Given the description of an element on the screen output the (x, y) to click on. 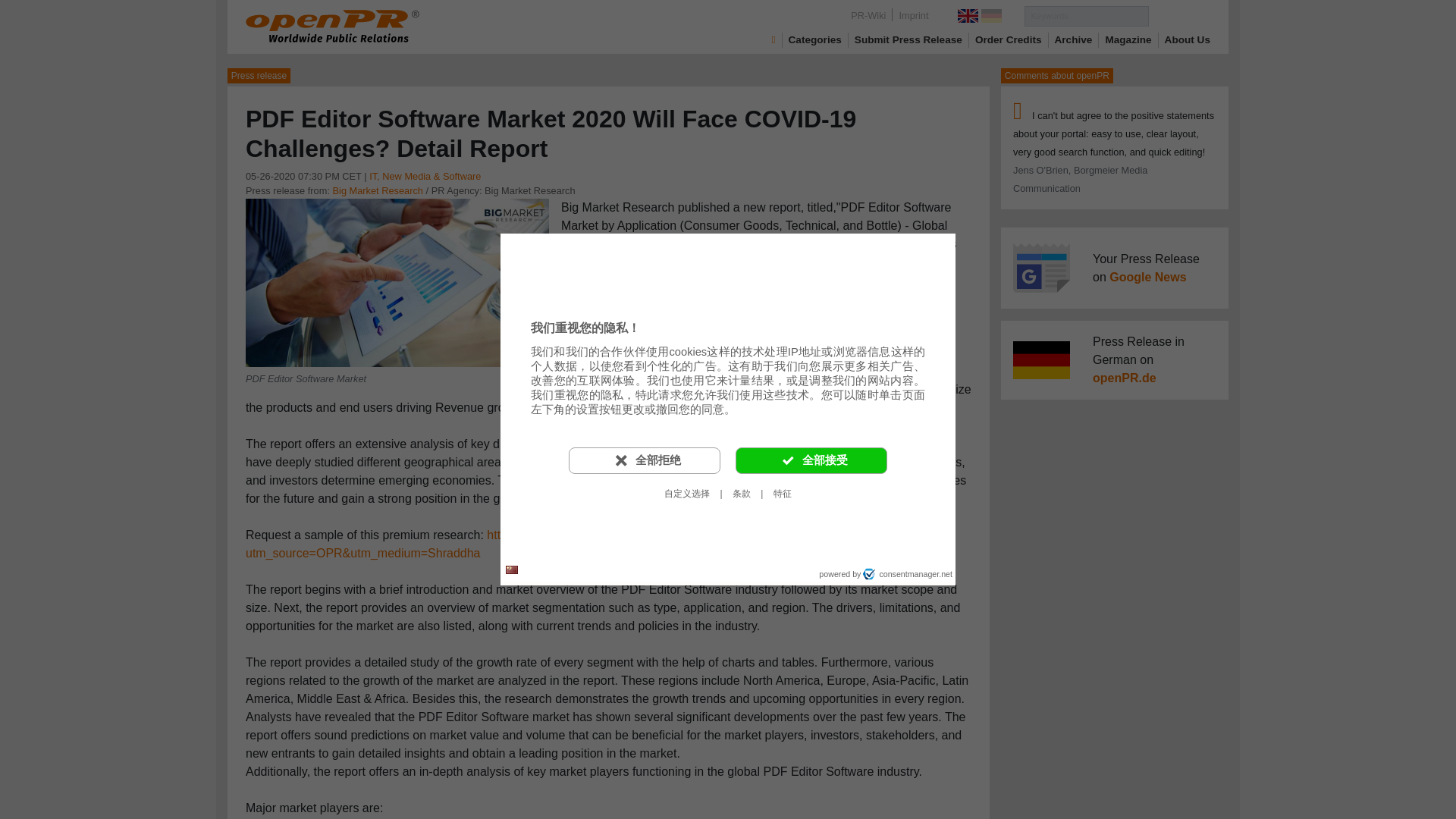
Search   (1178, 15)
Magazine (1128, 39)
Language: zh (511, 569)
archive und pressrelease of Big Market Research (376, 190)
Archive (1073, 39)
Order Credits (1008, 39)
PDF Editor Software Market (397, 281)
About Us (1186, 39)
PR-Wiki (867, 15)
Imprint (913, 15)
